Given the description of an element on the screen output the (x, y) to click on. 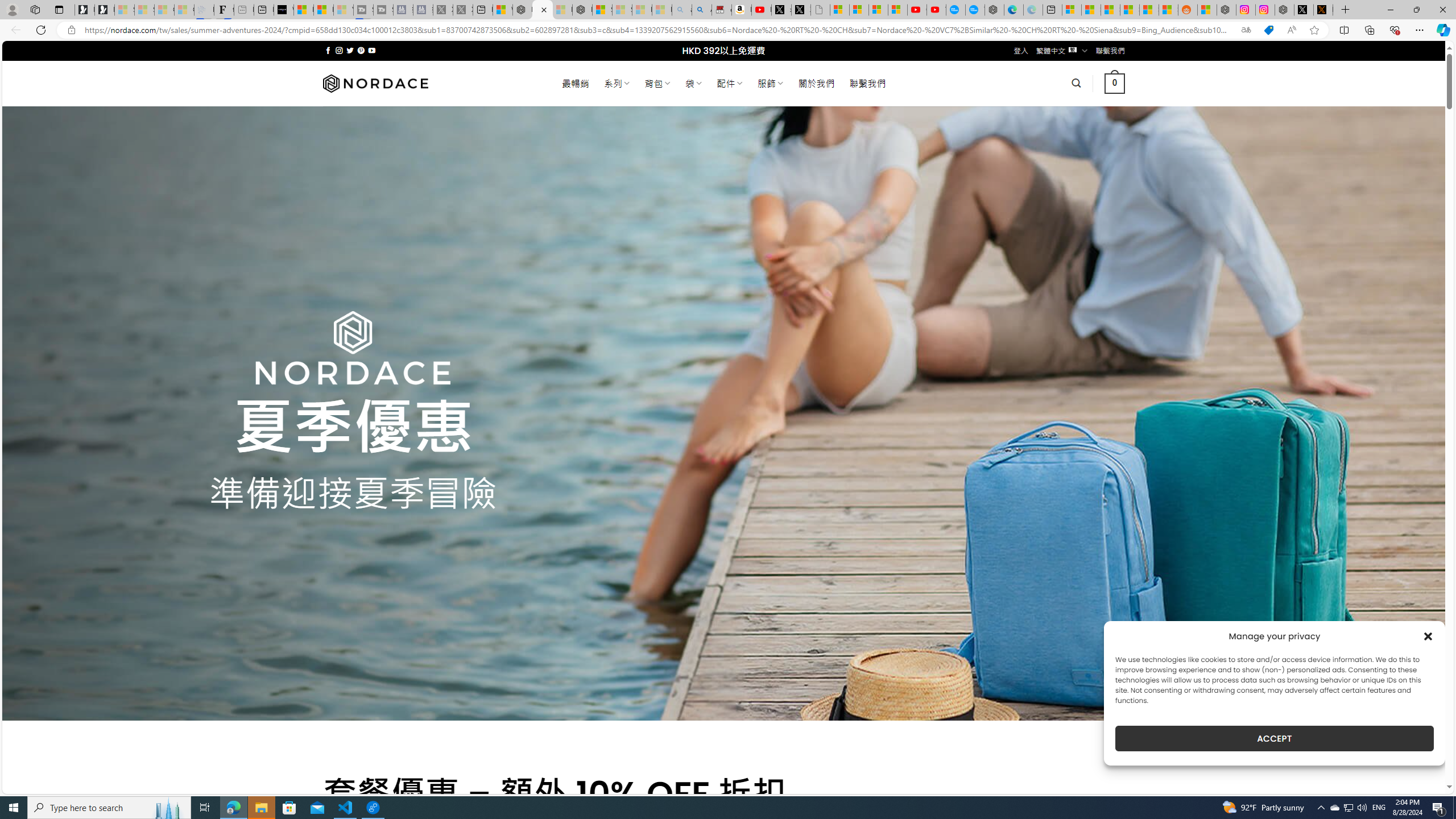
YouTube Kids - An App Created for Kids to Explore Content (935, 9)
Follow on Instagram (338, 50)
Amazon Echo Dot PNG - Search Images (701, 9)
Streaming Coverage | T3 - Sleeping (362, 9)
